Given the description of an element on the screen output the (x, y) to click on. 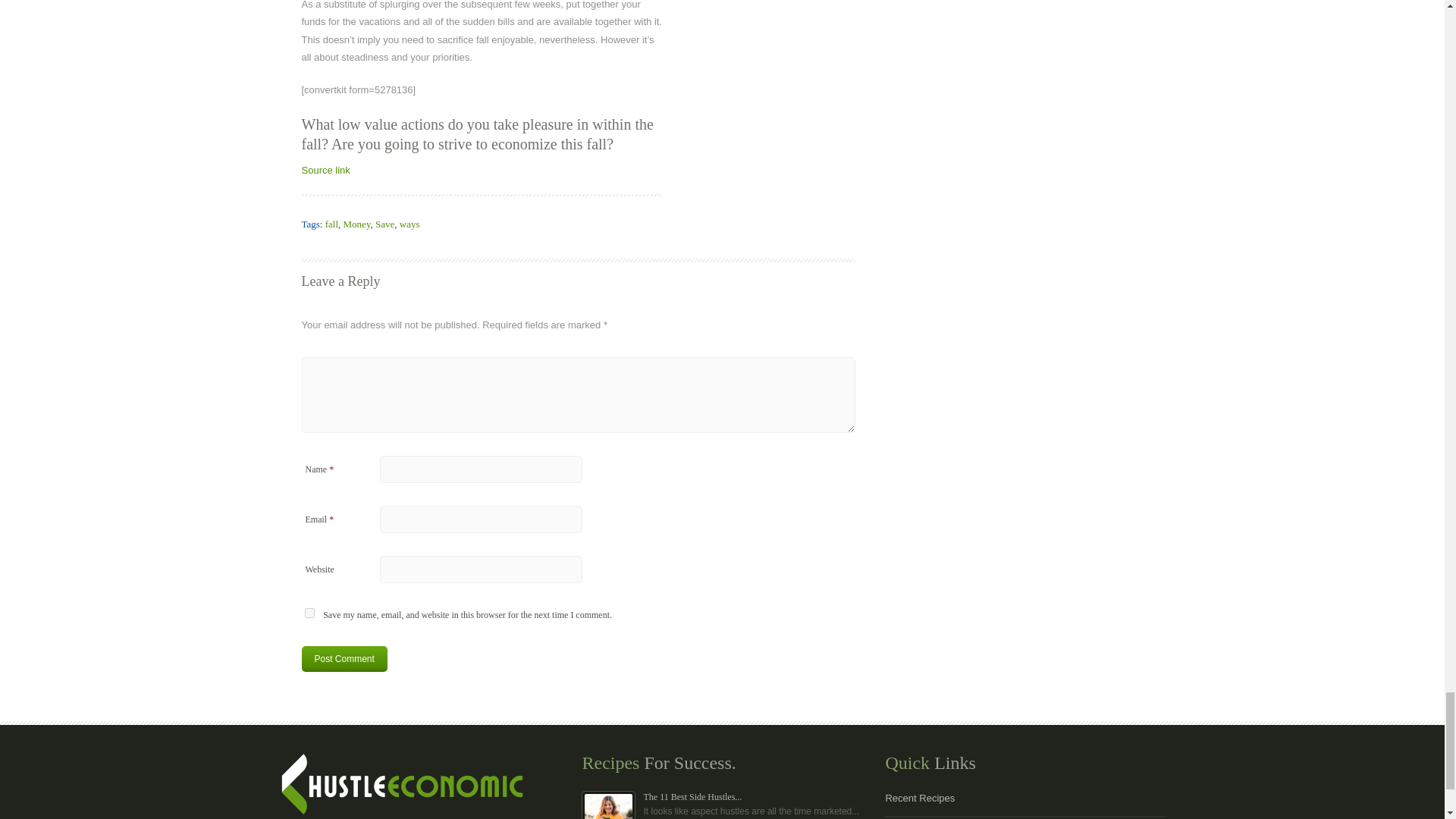
Money (357, 224)
yes (309, 613)
Post Comment (344, 658)
Save (384, 224)
Source link (325, 170)
fall (330, 224)
ways (409, 224)
Post Comment (344, 658)
